Given the description of an element on the screen output the (x, y) to click on. 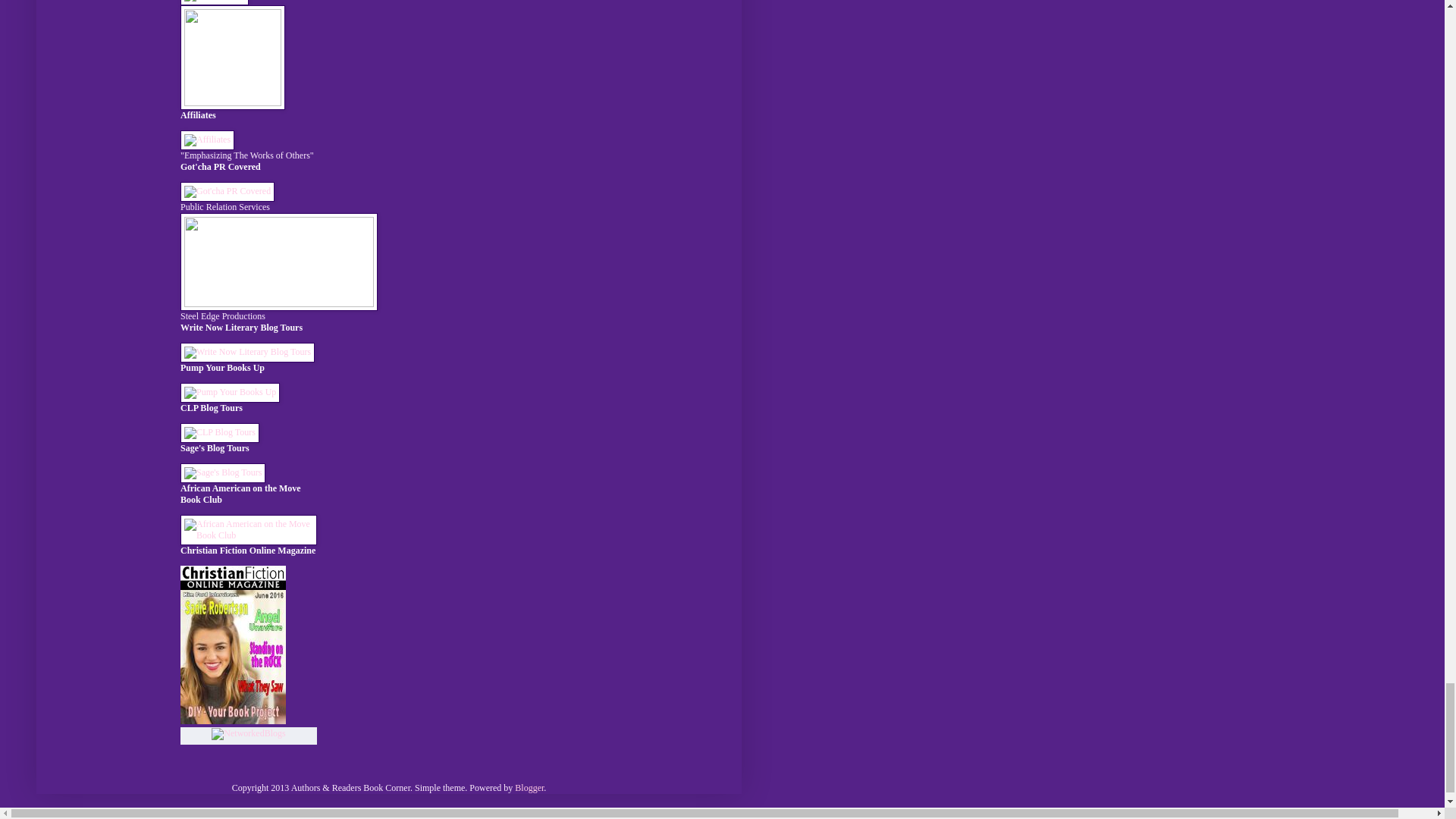
NetworkedBlogs (248, 734)
NetworkedBlogs (248, 733)
